Given the description of an element on the screen output the (x, y) to click on. 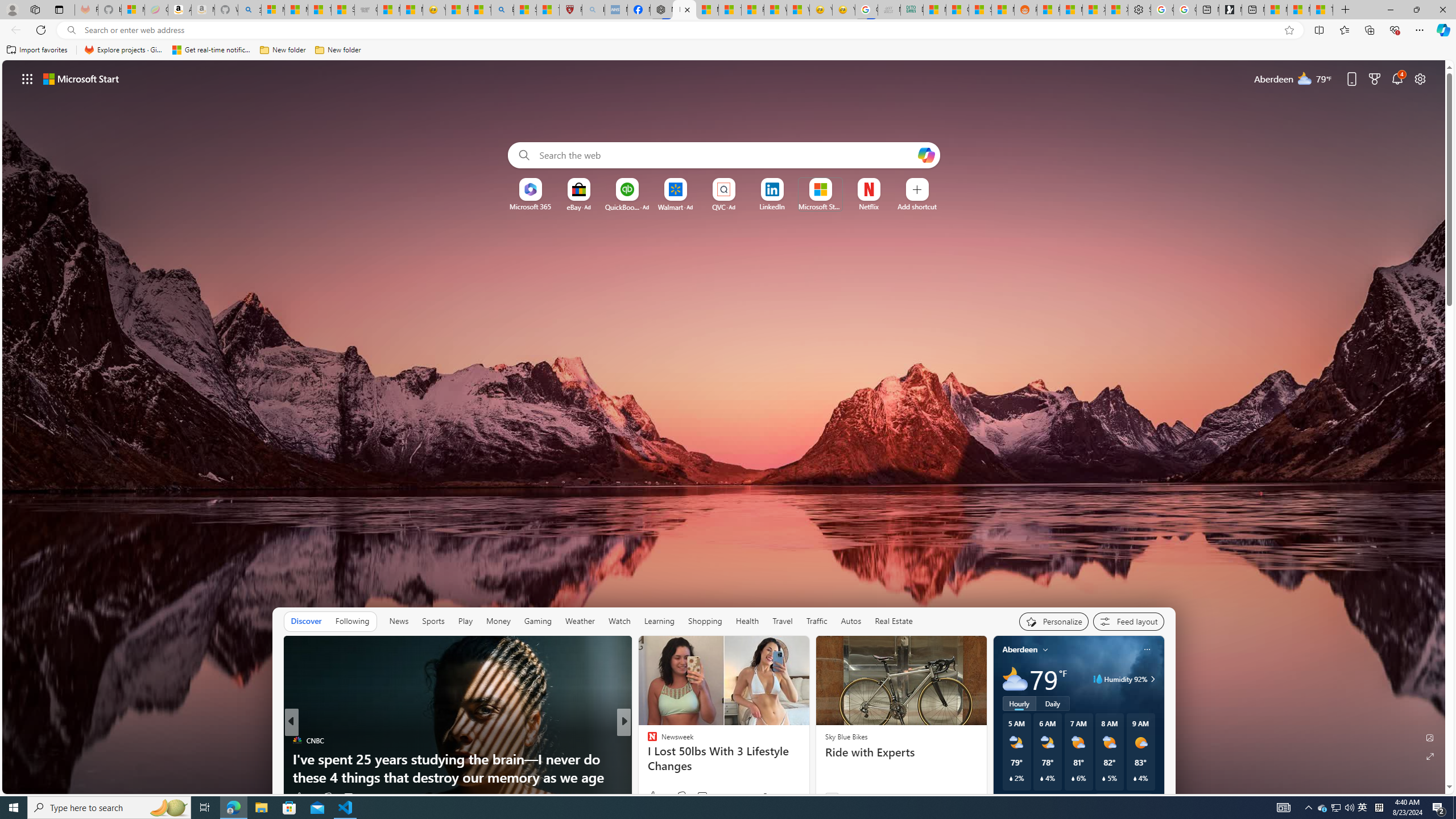
Humidity 92% (1150, 678)
Fitness - MSN (752, 9)
View comments 38 Comment (703, 797)
Autos (850, 621)
View comments 97 Comment (353, 796)
View comments 173 Comment (708, 795)
8 Like (651, 796)
